Given the description of an element on the screen output the (x, y) to click on. 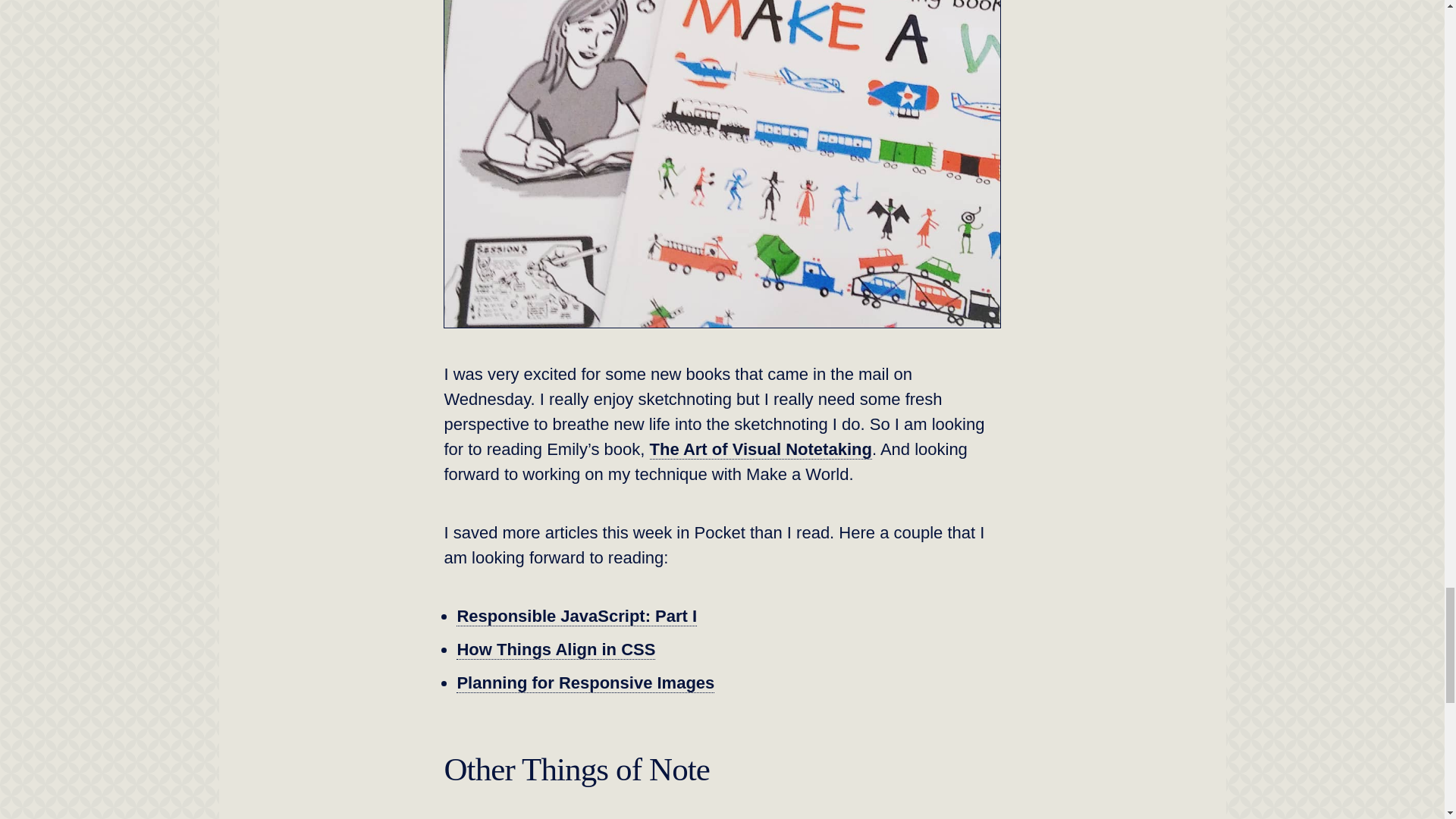
Planning for Responsive Images (585, 682)
How Things Align in CSS (556, 649)
Responsible JavaScript: Part I (577, 616)
The Art of Visual Notetaking (759, 449)
